Given the description of an element on the screen output the (x, y) to click on. 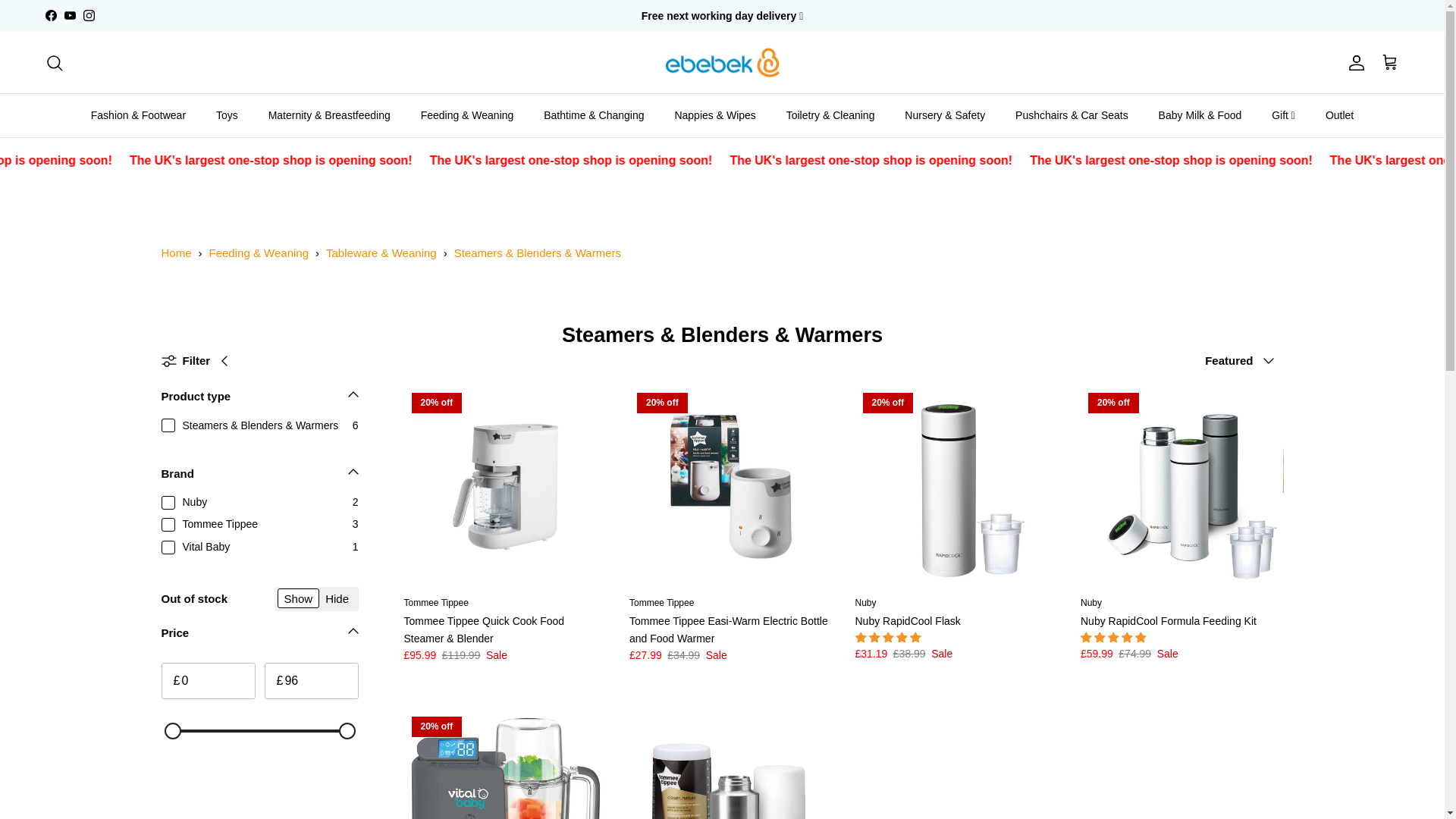
Search (54, 63)
Cart (1389, 62)
YouTube (69, 15)
ebebek on Instagram (88, 15)
Home (175, 252)
Account (1352, 63)
